Given the description of an element on the screen output the (x, y) to click on. 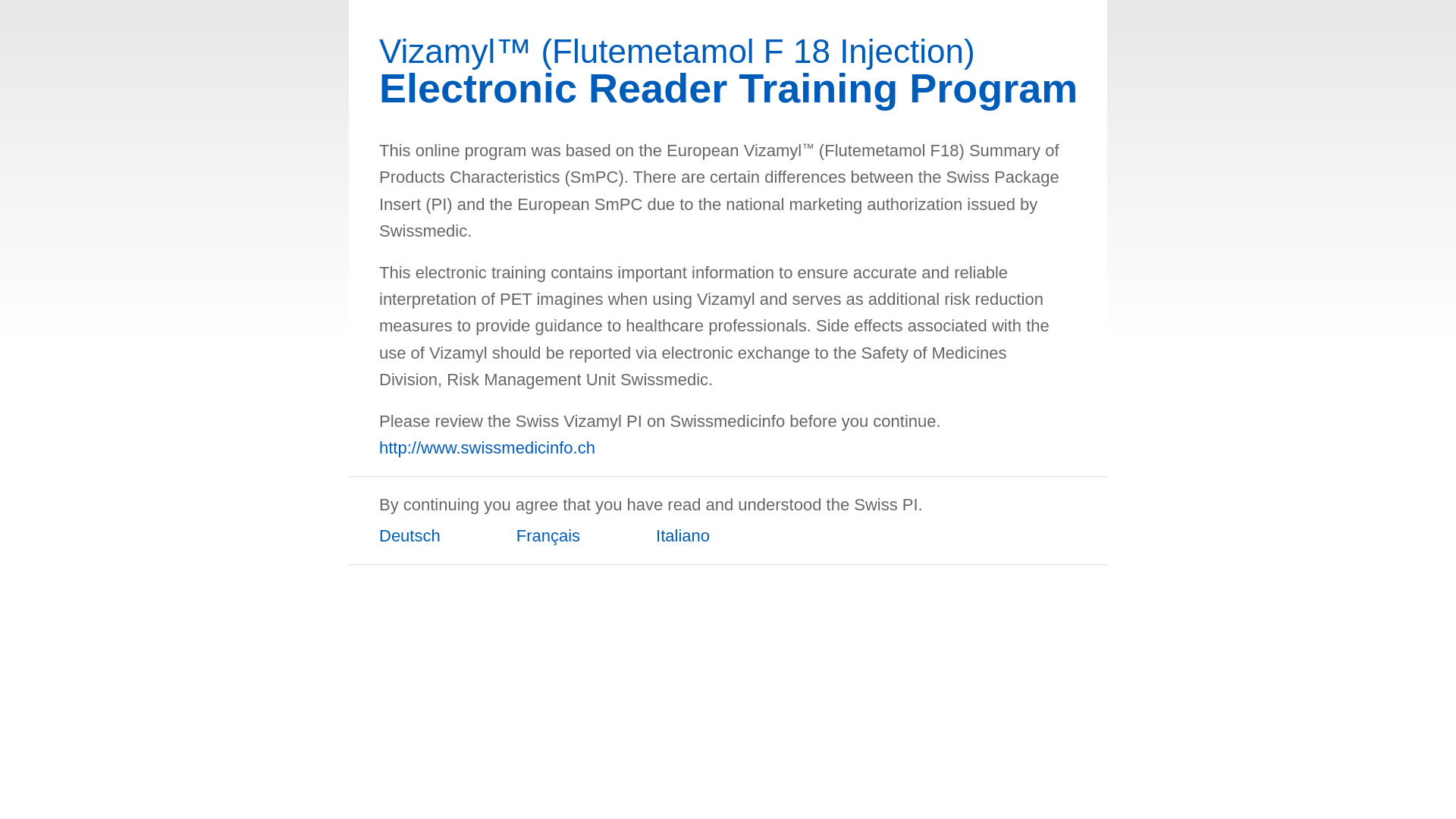
Deutsch (417, 543)
Italiano (690, 543)
